Given the description of an element on the screen output the (x, y) to click on. 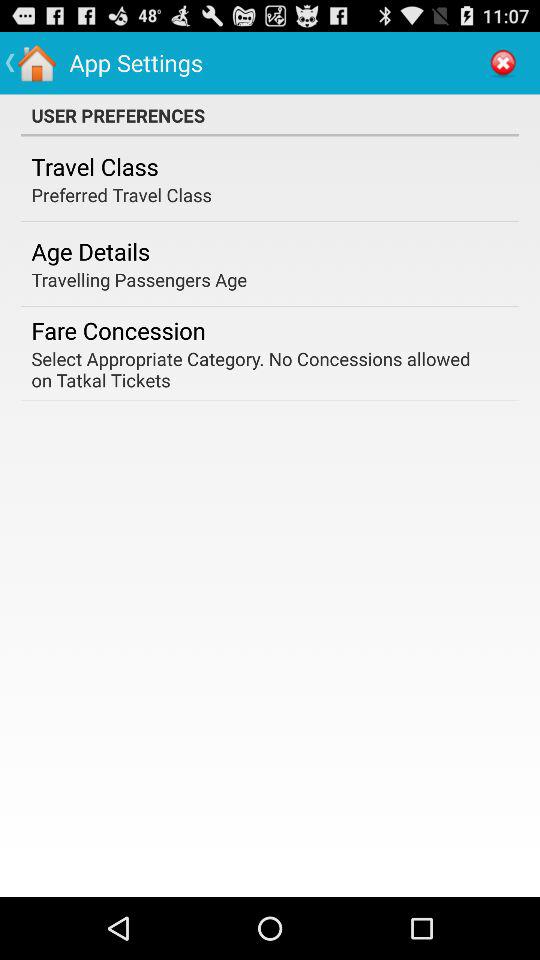
turn off the icon at the center (263, 369)
